Given the description of an element on the screen output the (x, y) to click on. 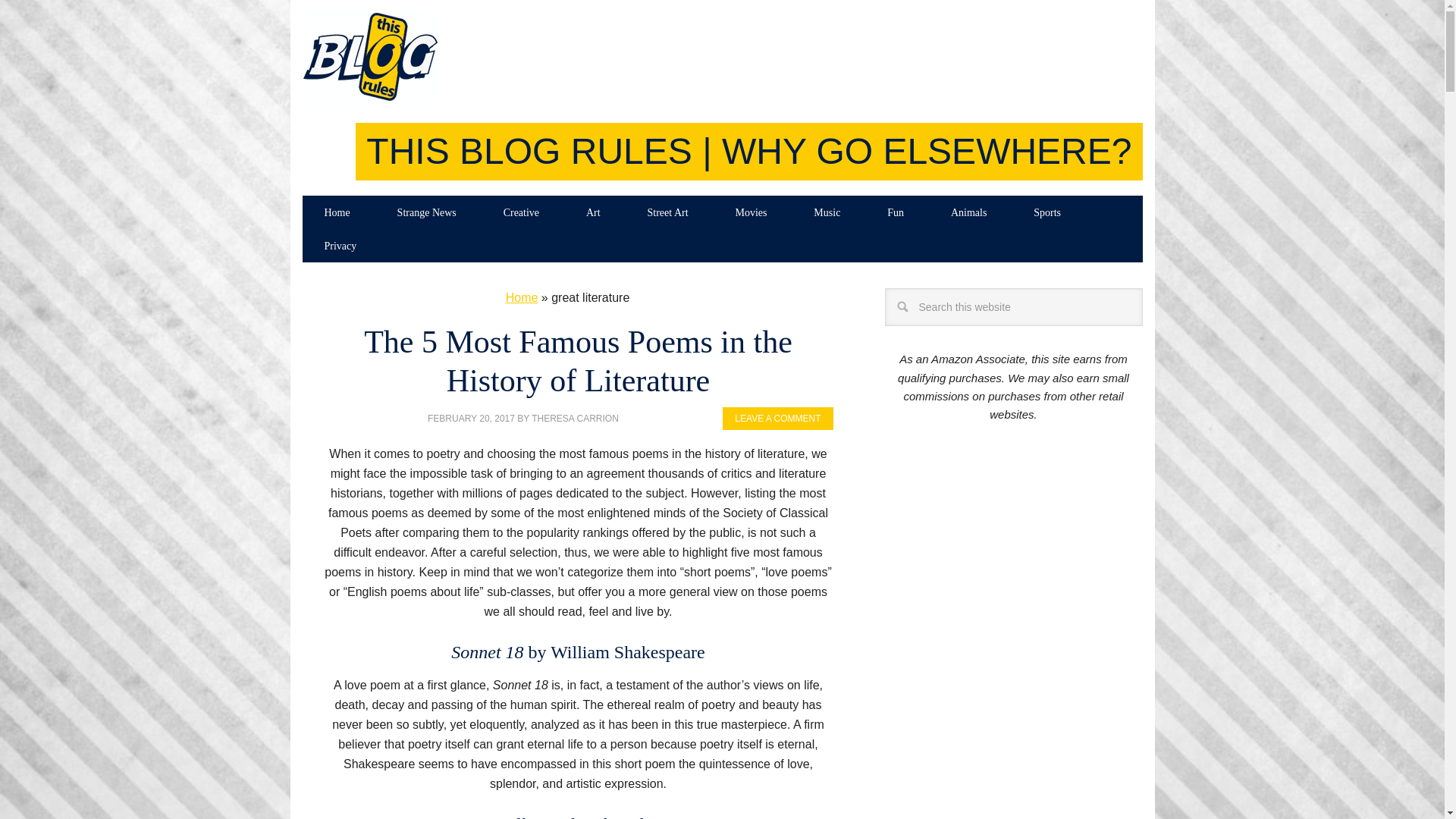
Home (336, 212)
The 5 Most Famous Poems in the History of Literature (578, 360)
Home (521, 297)
Art (593, 212)
THERESA CARRION (574, 418)
Music (826, 212)
Privacy (339, 245)
Sports (1047, 212)
Creative (520, 212)
Fun (895, 212)
Strange News (427, 212)
Movies (751, 212)
LEAVE A COMMENT (777, 418)
